Given the description of an element on the screen output the (x, y) to click on. 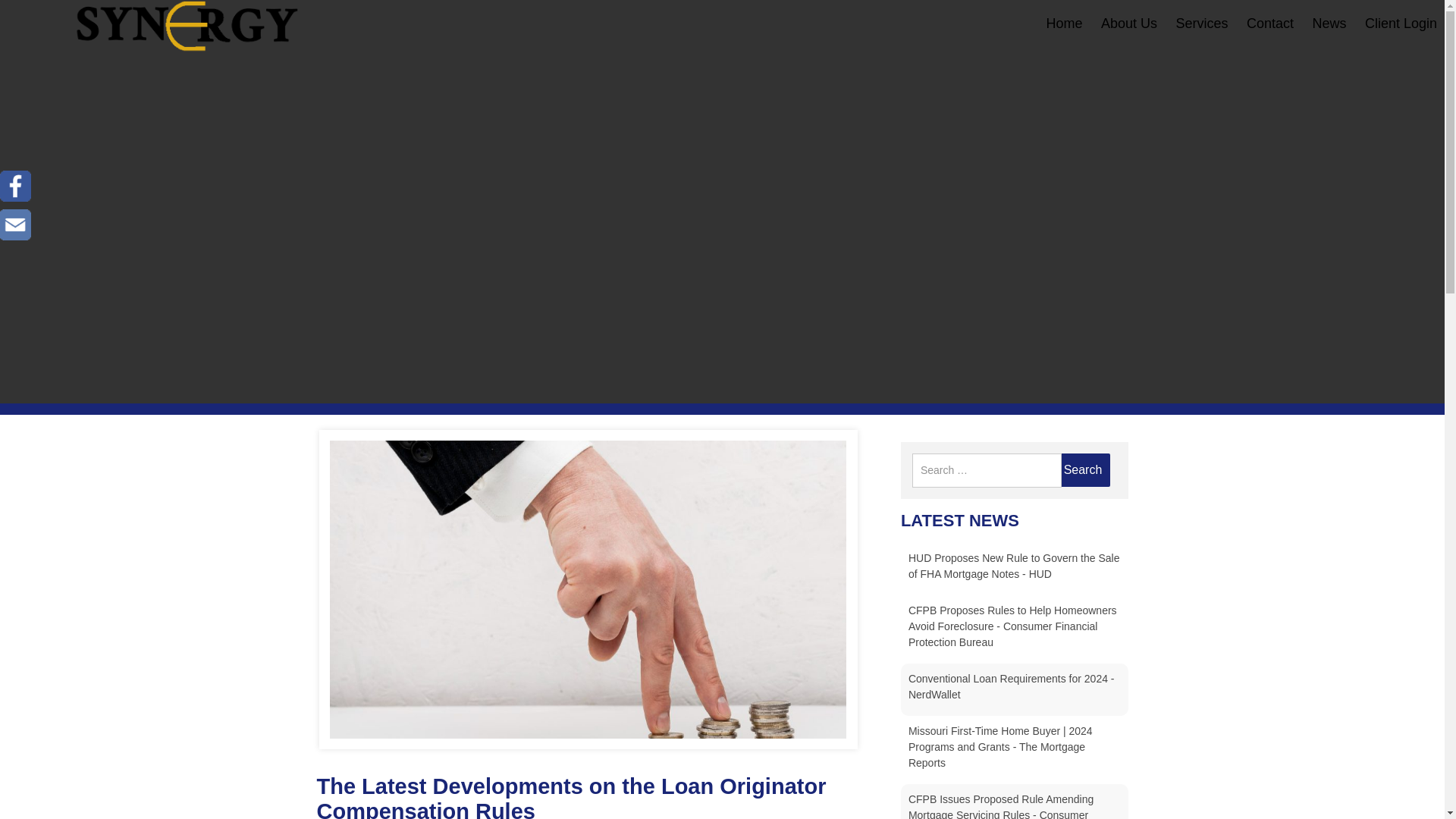
News (1328, 23)
Conventional Loan Requirements for 2024 - NerdWallet (1011, 686)
Client Login (1401, 23)
Search (1082, 469)
Services (1200, 23)
Conventional Loan Requirements for 2024 - NerdWallet (1011, 686)
Search (1082, 469)
Contact (1270, 23)
About Us (1128, 23)
